Given the description of an element on the screen output the (x, y) to click on. 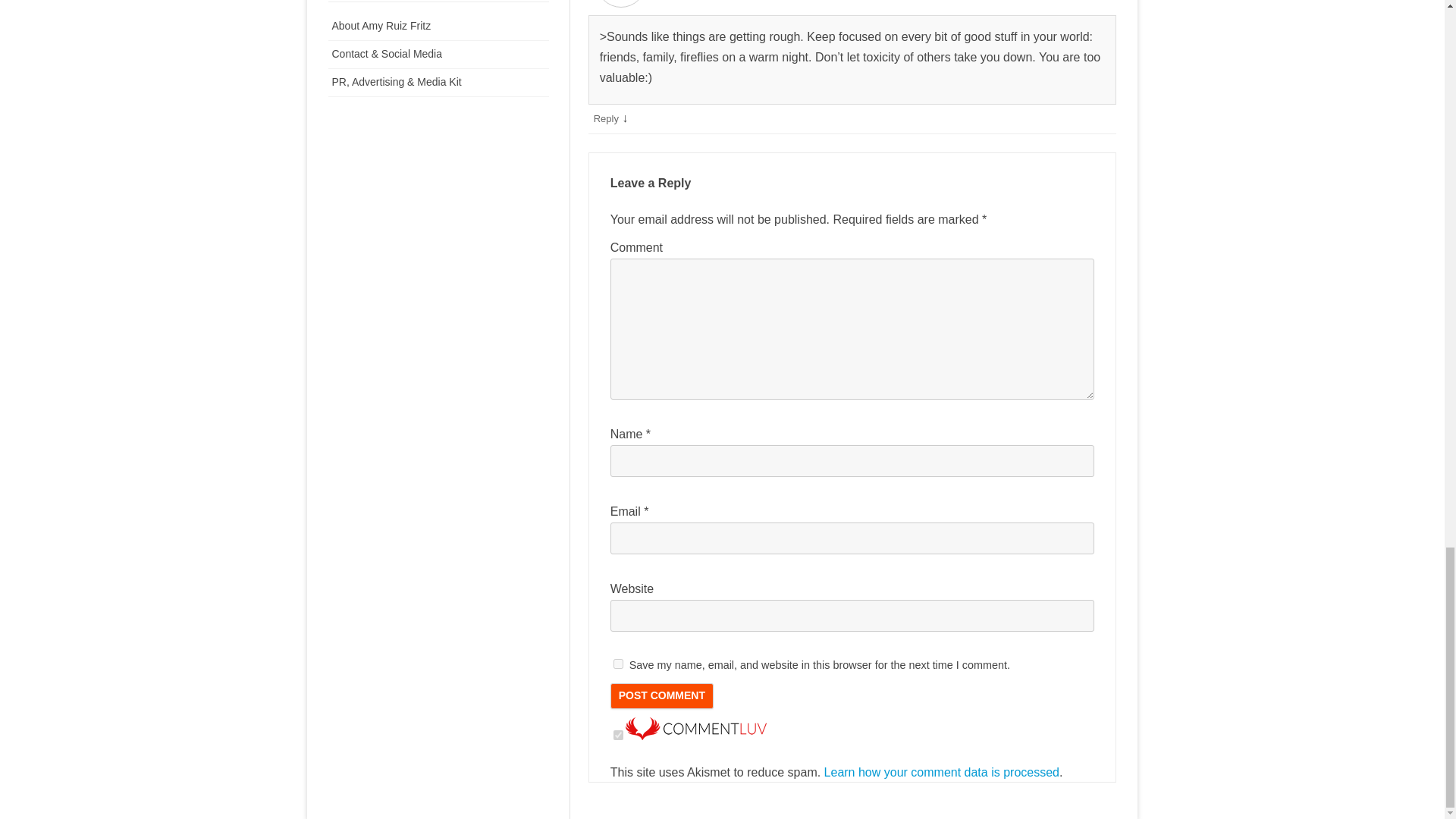
yes (617, 664)
Post Comment (661, 696)
Post Comment (661, 696)
Reply (606, 118)
Learn how your comment data is processed (941, 771)
on (617, 735)
CommentLuv is enabled (696, 735)
